Given the description of an element on the screen output the (x, y) to click on. 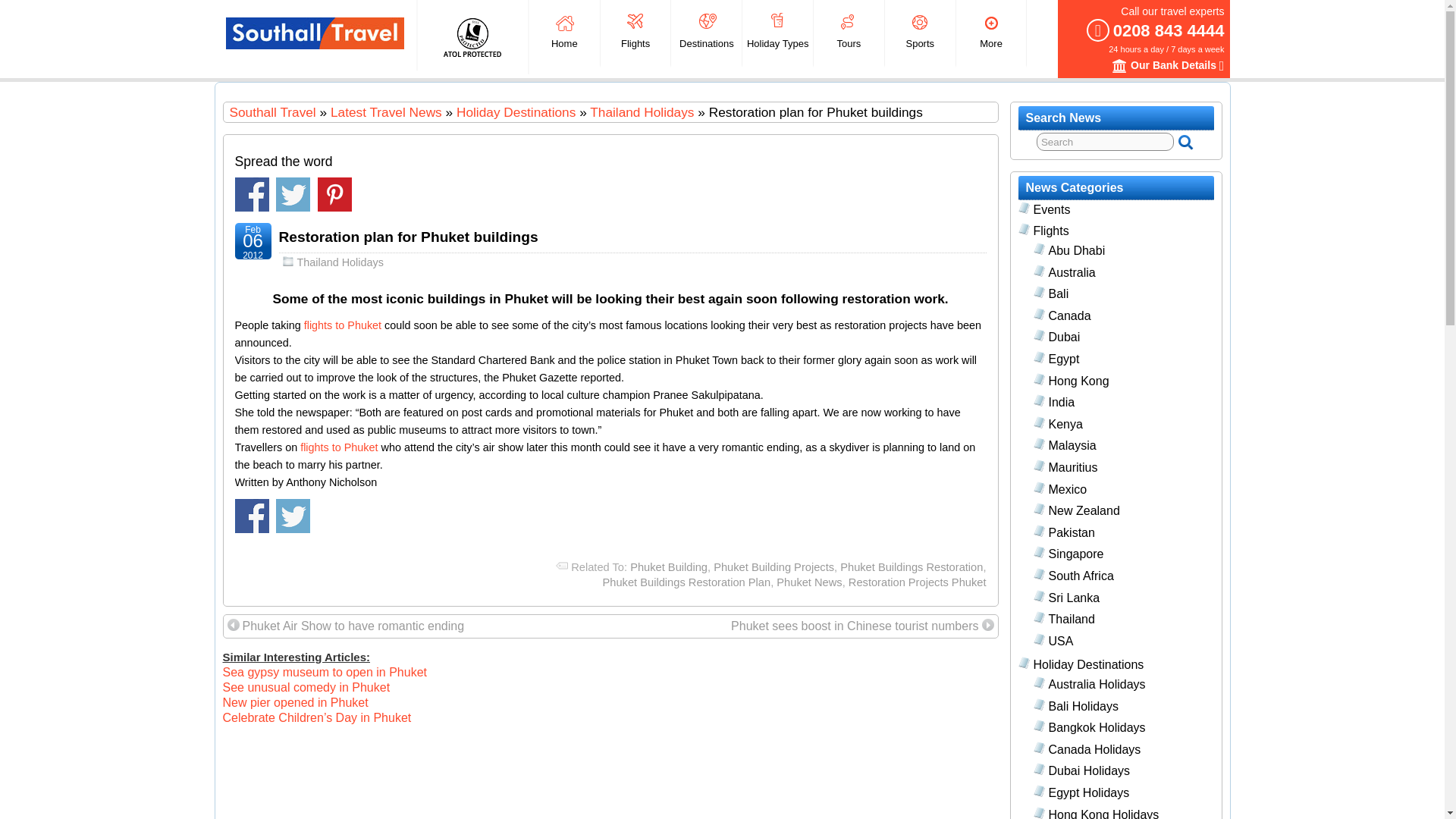
Search (1104, 141)
Tours (848, 32)
ATOL Protection (472, 36)
Southall Travel (314, 33)
Sports (920, 32)
Thailand Holidays (641, 111)
www.southalltravel.co.uk (271, 111)
See unusual comedy in Phuket (306, 686)
Sea gypsy museum to open in Phuket (325, 671)
More (991, 32)
